Given the description of an element on the screen output the (x, y) to click on. 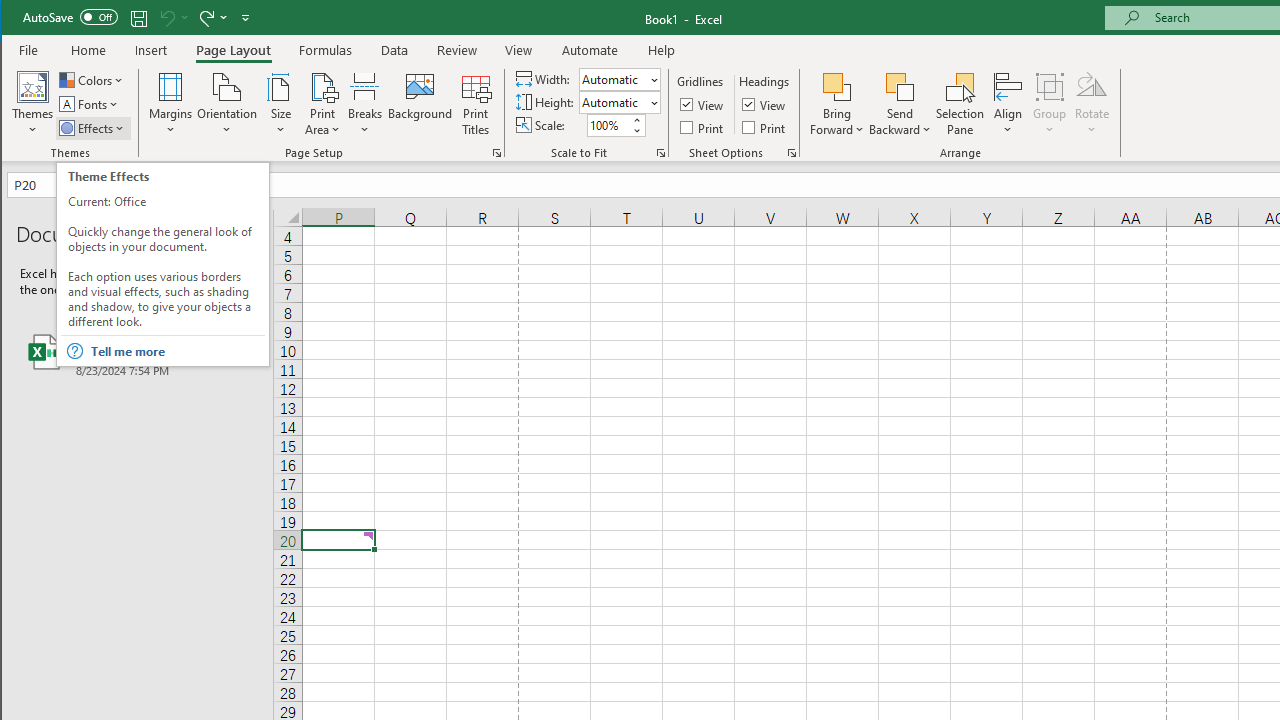
Print Titles (475, 104)
Fonts (90, 103)
Bring Forward (836, 104)
More (636, 120)
Margins (170, 104)
Height (612, 102)
